Given the description of an element on the screen output the (x, y) to click on. 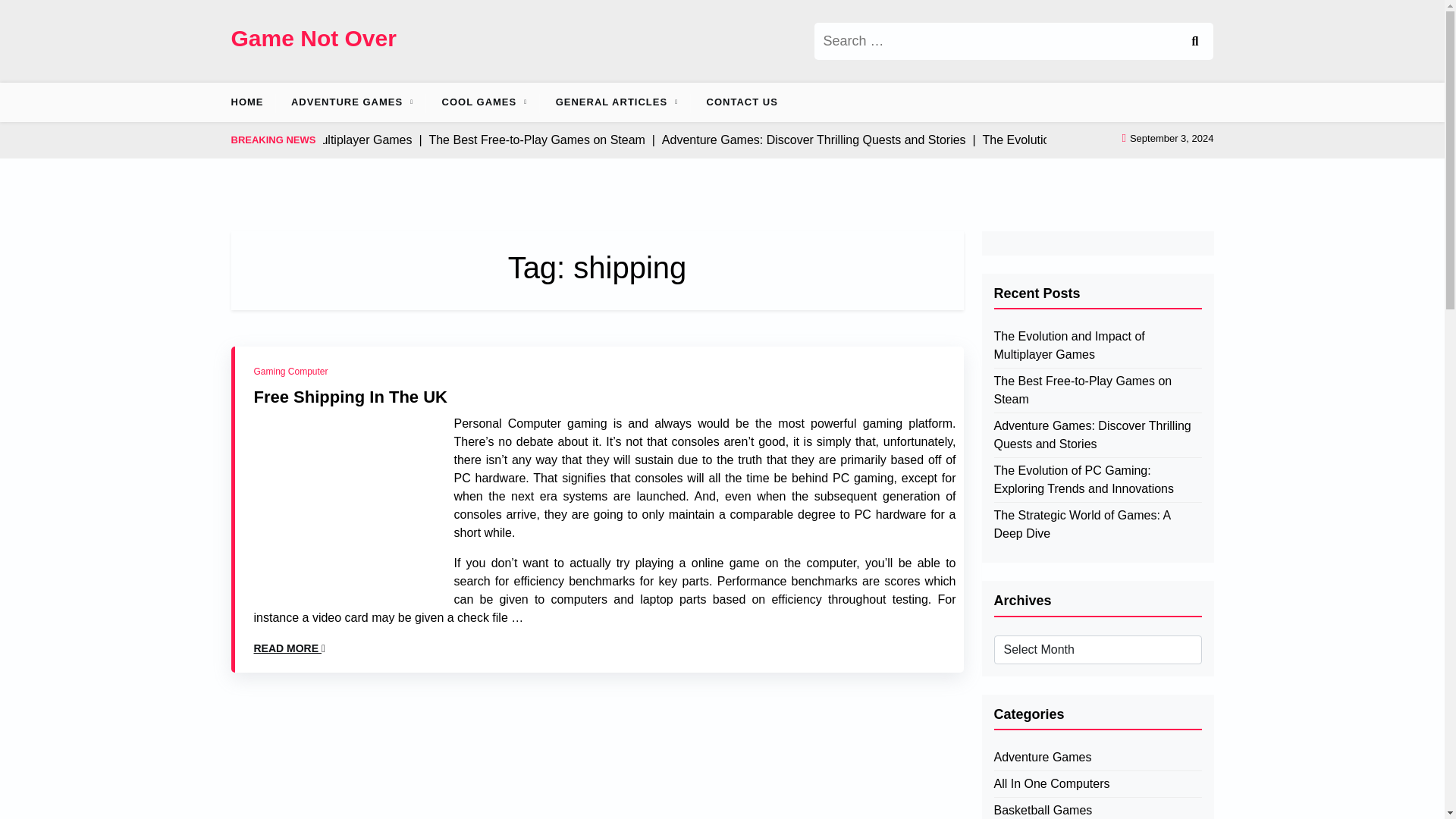
Search (1193, 40)
Free Shipping In The UK (349, 397)
The Evolution and Impact of Multiplayer Games (1096, 345)
CONTACT US (742, 102)
Search (1193, 40)
COOL GAMES (479, 102)
Game Not Over (313, 37)
HOME (252, 102)
ADVENTURE GAMES (346, 102)
Search (1193, 40)
